Given the description of an element on the screen output the (x, y) to click on. 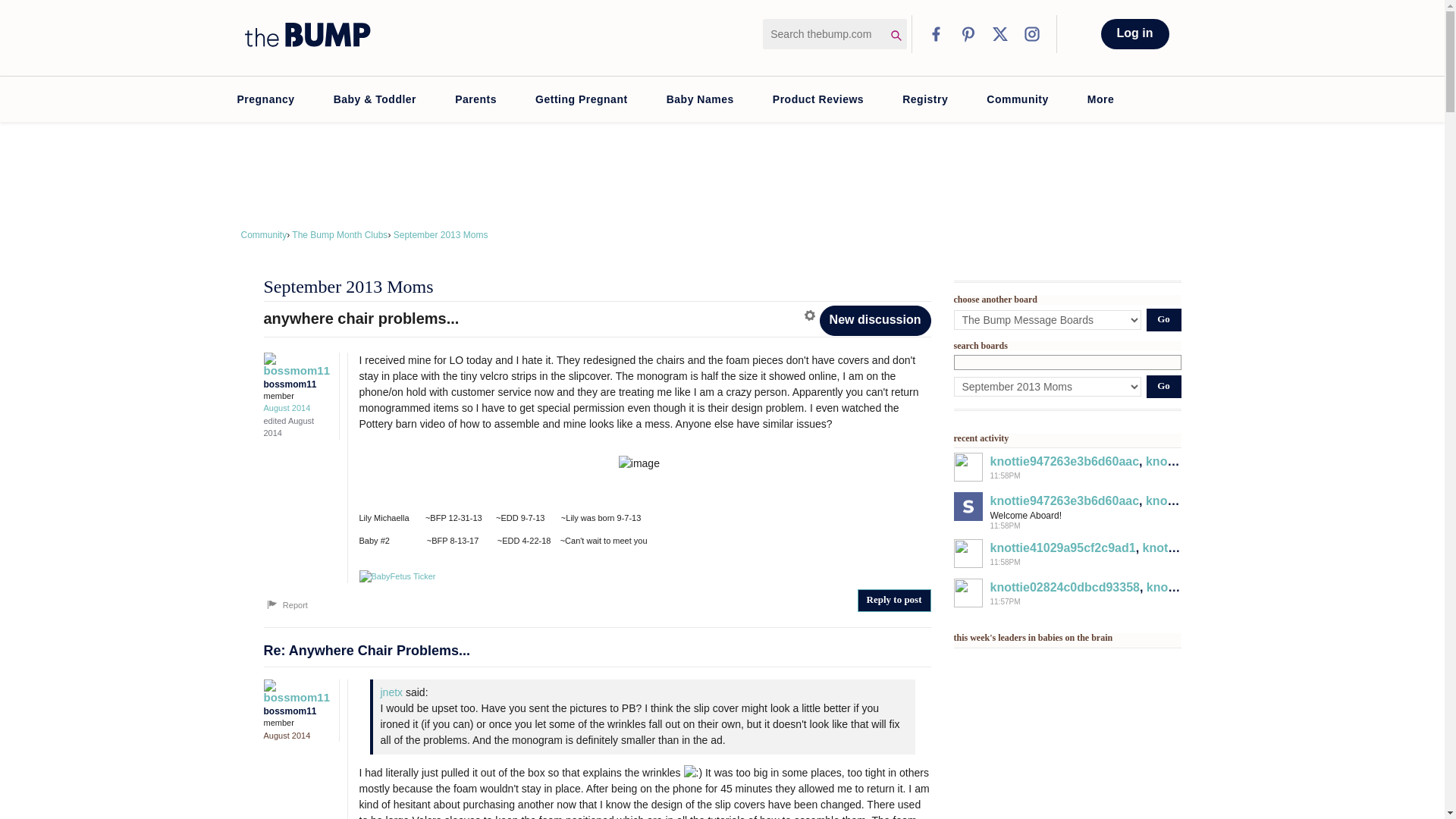
August 5, 2014 7:27PM (287, 407)
Edited August 6, 2014 6:58PM by bossmom11. (288, 427)
Log in (1134, 33)
Options (811, 315)
member (297, 395)
August 5, 2014 8:23PM (287, 735)
Go (1163, 386)
member (297, 722)
bossmom11 (293, 363)
Pregnancy (264, 99)
Go (1163, 319)
bossmom11 (293, 690)
Report (285, 604)
